Given the description of an element on the screen output the (x, y) to click on. 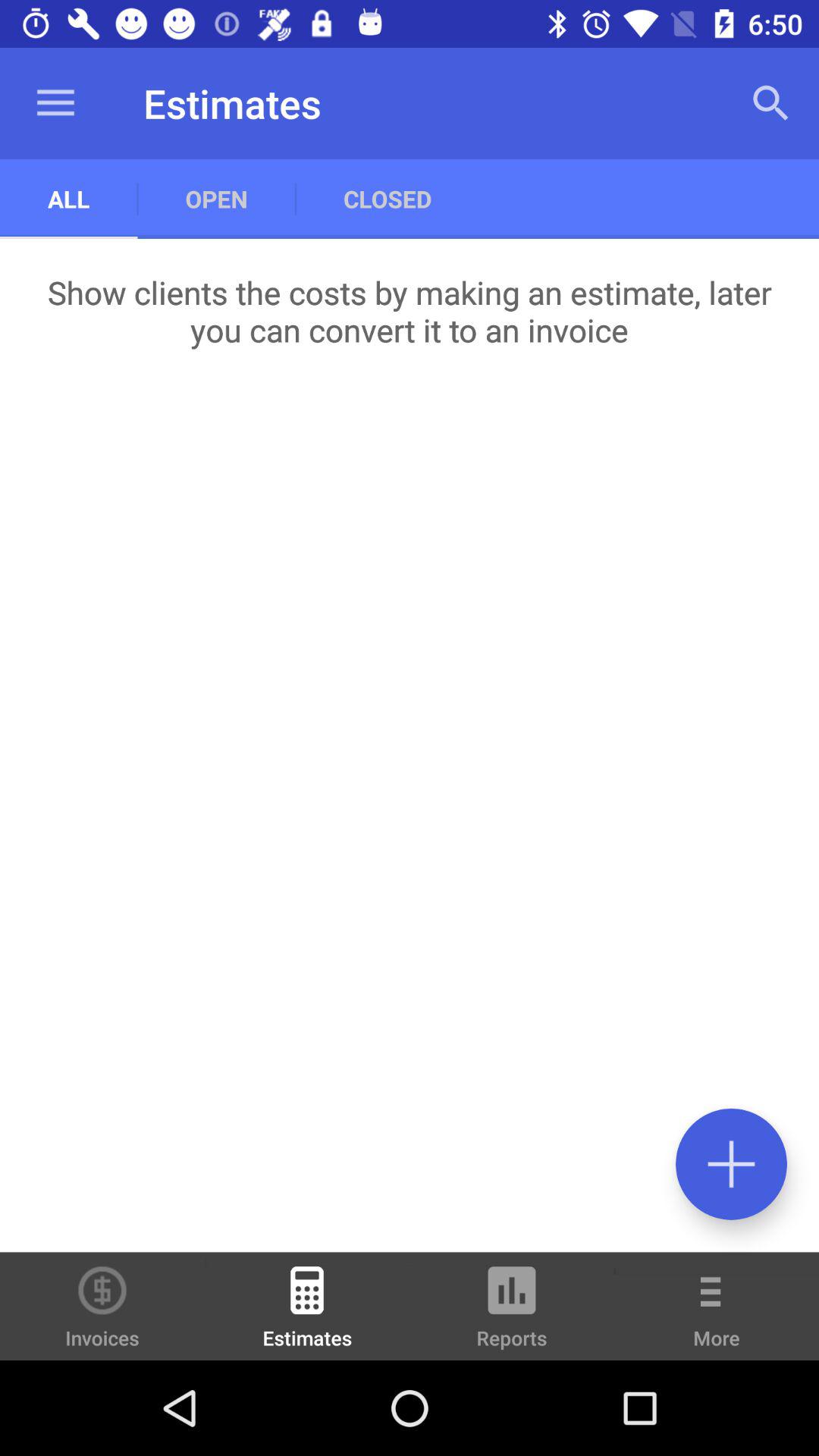
tap the icon next to the open icon (55, 103)
